Given the description of an element on the screen output the (x, y) to click on. 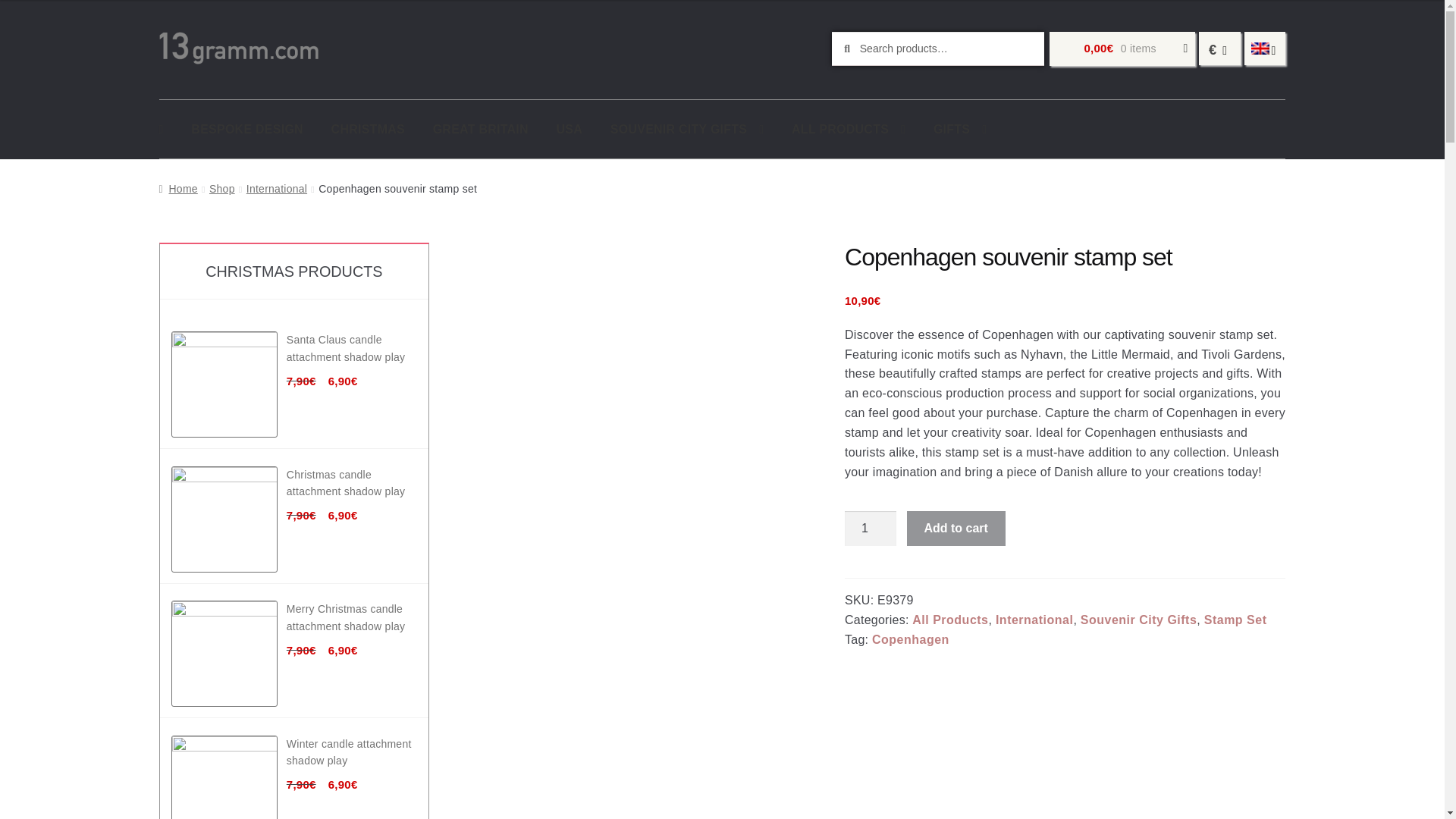
GREAT BRITAIN (480, 128)
1 (870, 528)
ALL PRODUCTS (847, 128)
BESPOKE DESIGN (247, 128)
View your shopping cart (1122, 48)
CHRISTMAS (367, 128)
SOUVENIR CITY GIFTS (687, 128)
